Given the description of an element on the screen output the (x, y) to click on. 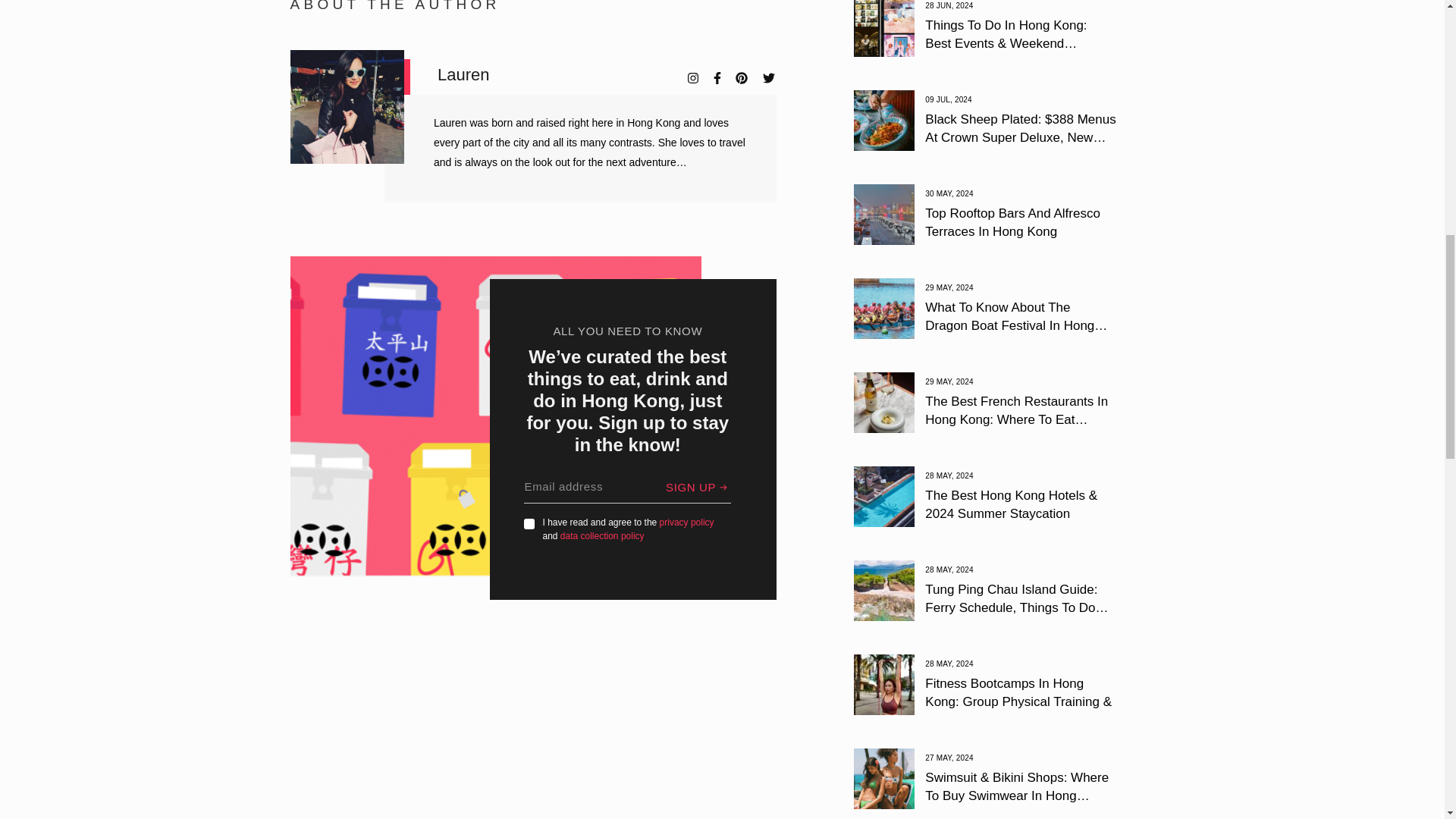
on (529, 523)
Sign Up (697, 486)
